Given the description of an element on the screen output the (x, y) to click on. 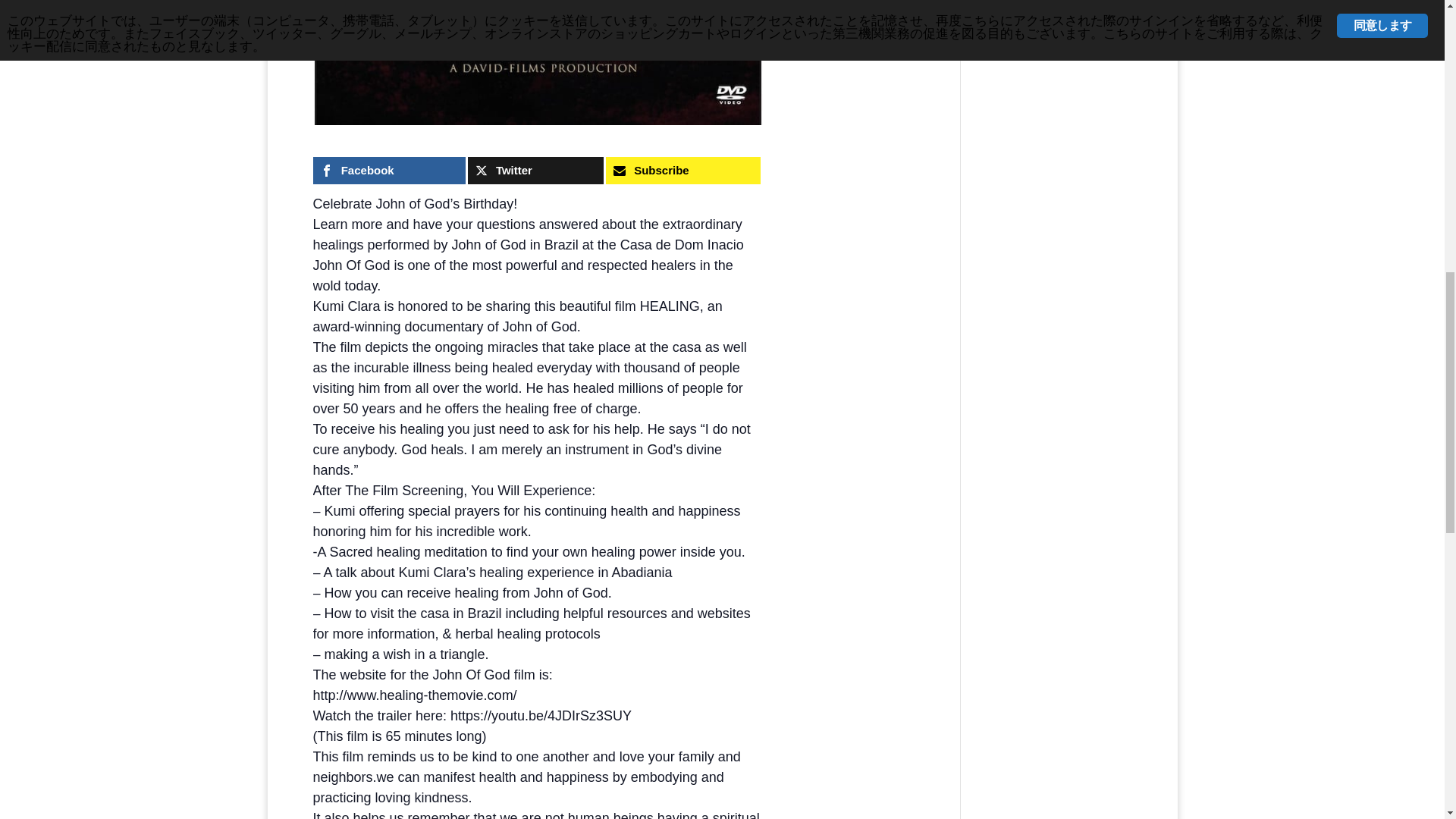
Twitter (535, 170)
Subscribe (682, 170)
Facebook (388, 170)
